Given the description of an element on the screen output the (x, y) to click on. 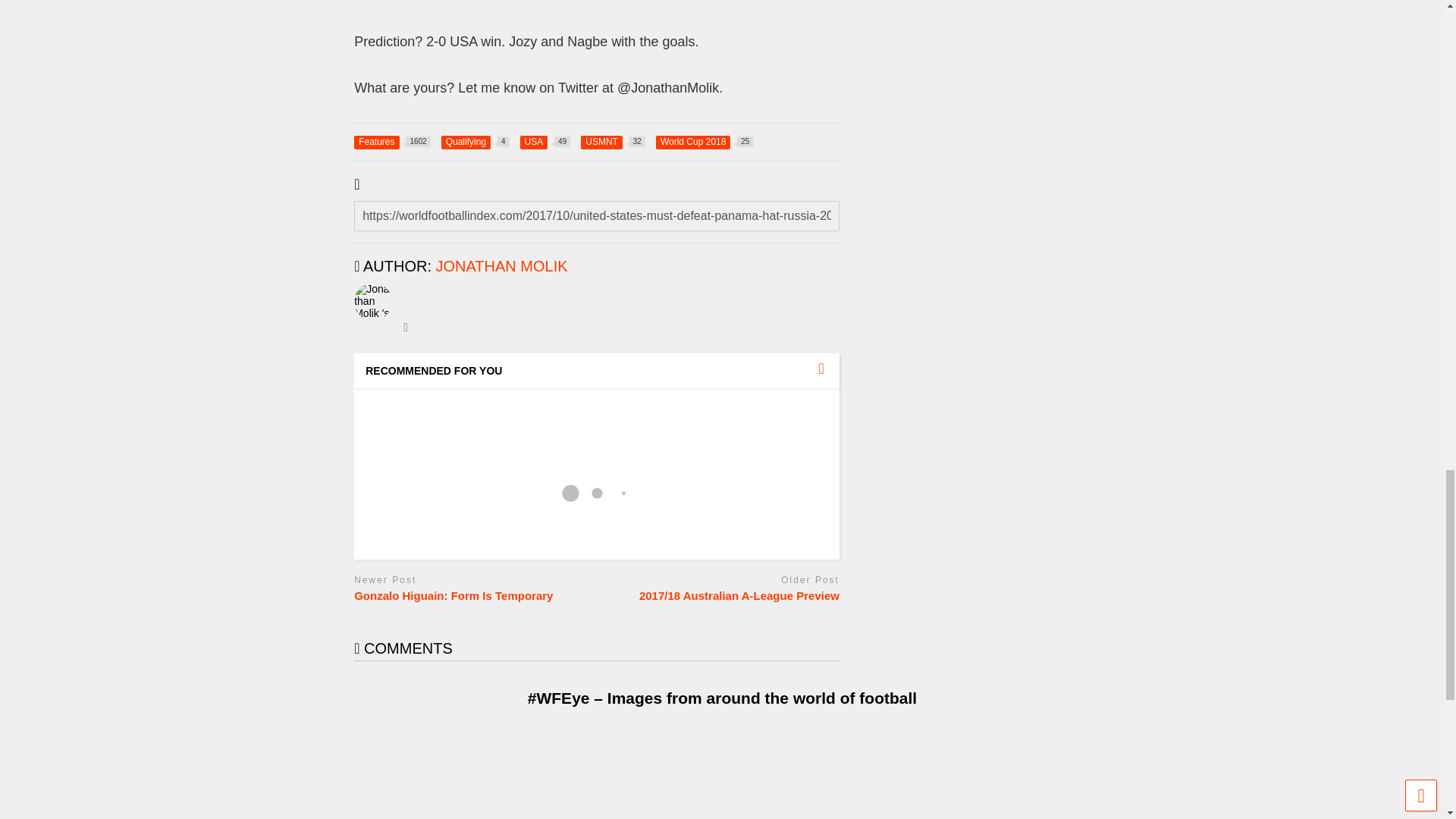
author profile (391, 141)
JONATHAN MOLIK (544, 141)
Gonzalo Higuain: Form Is Temporary (475, 141)
